Given the description of an element on the screen output the (x, y) to click on. 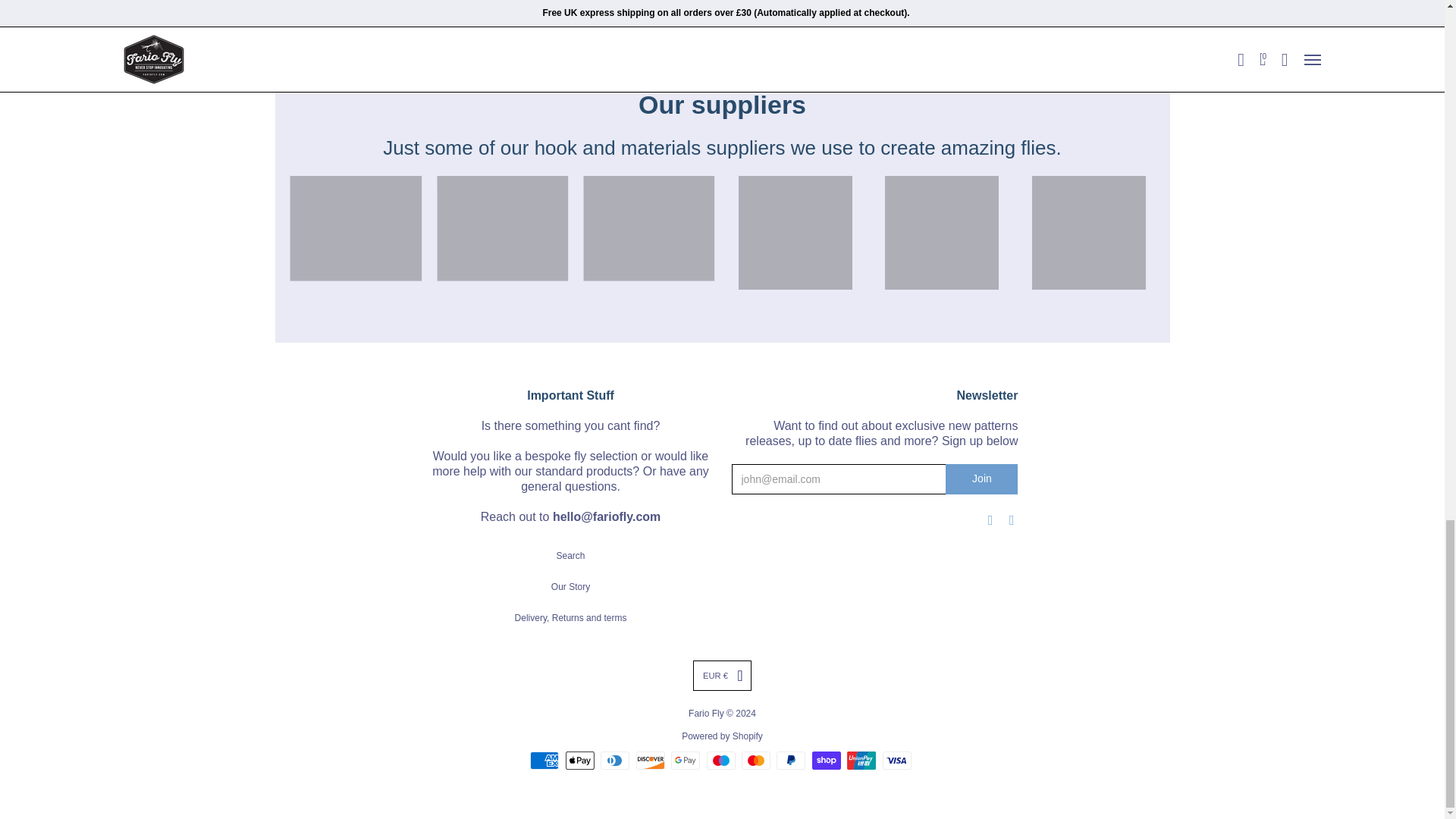
Google Pay (685, 760)
Apple Pay (580, 760)
Mastercard (755, 760)
Maestro (720, 760)
Join (980, 479)
Visa (896, 760)
Discover (650, 760)
Shop Pay (826, 760)
American Express (544, 760)
Union Pay (861, 760)
